Given the description of an element on the screen output the (x, y) to click on. 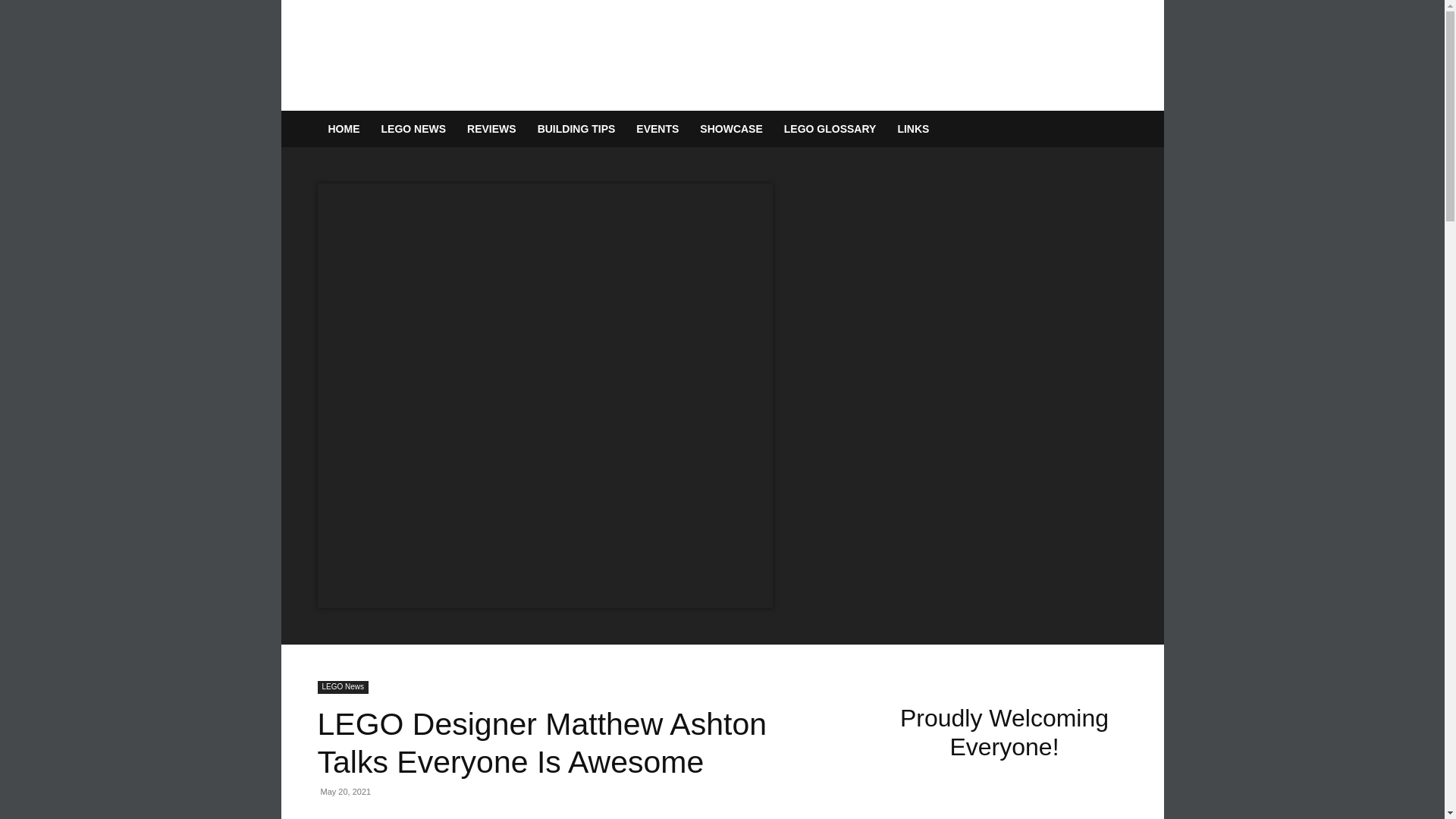
LEGO GLOSSARY (829, 128)
LINKS (912, 128)
REVIEWS (492, 128)
SHOWCASE (730, 128)
BUILDING TIPS (576, 128)
EVENTS (657, 128)
LEGO News (342, 686)
HOME (343, 128)
LEGO NEWS (413, 128)
